Given the description of an element on the screen output the (x, y) to click on. 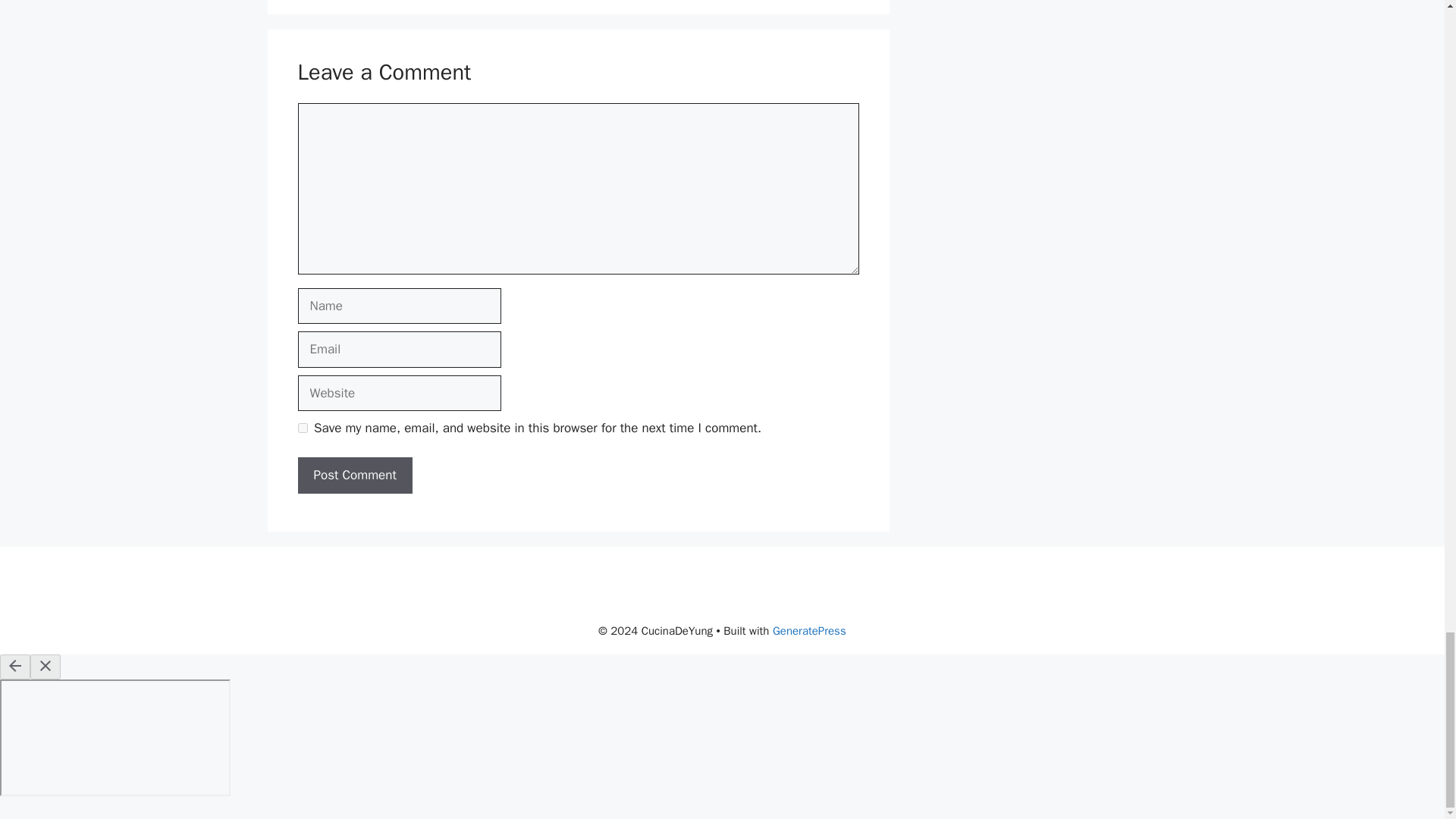
Post Comment (354, 475)
Post Comment (354, 475)
yes (302, 428)
